Given the description of an element on the screen output the (x, y) to click on. 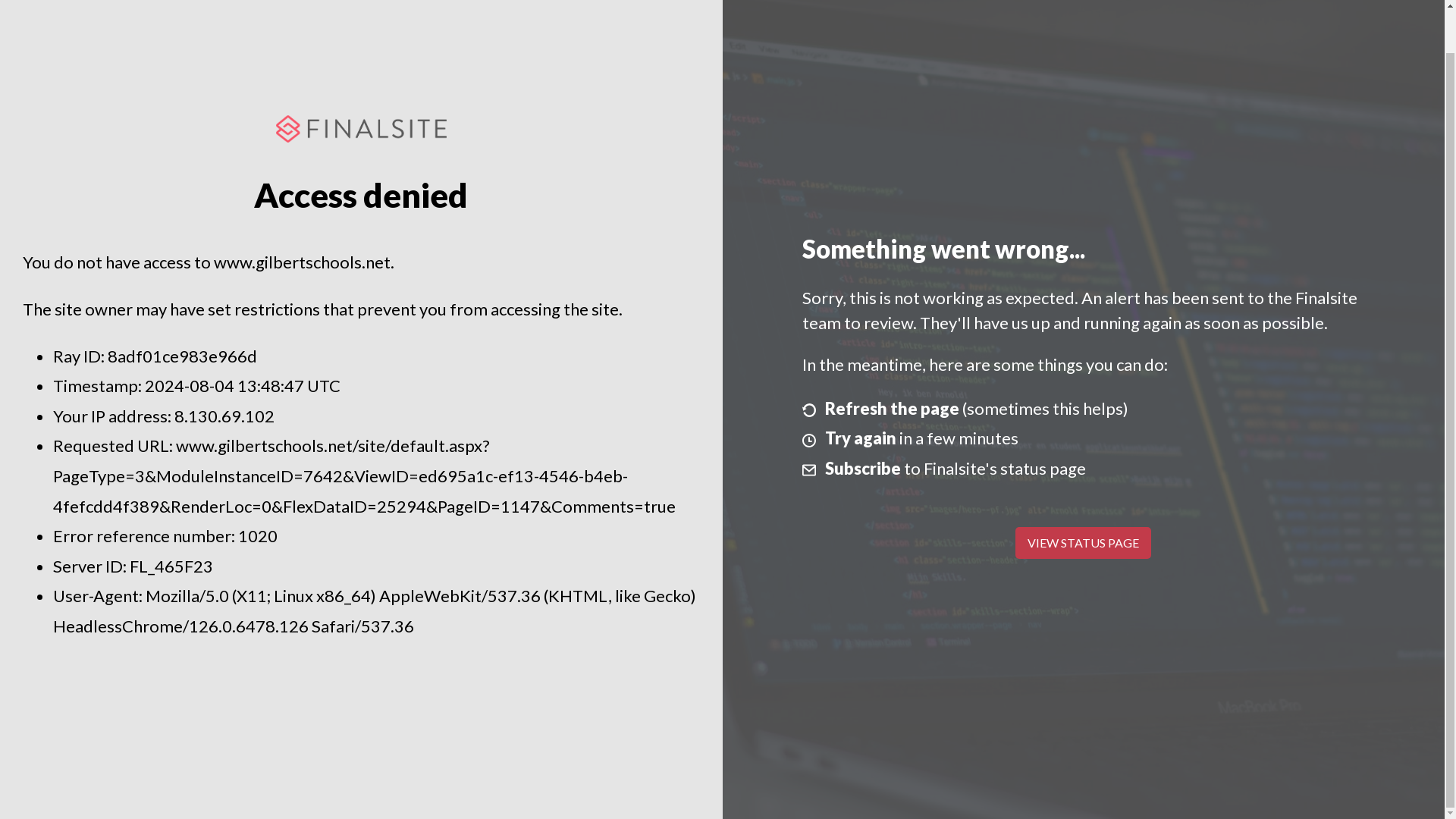
VIEW STATUS PAGE (1082, 542)
